Given the description of an element on the screen output the (x, y) to click on. 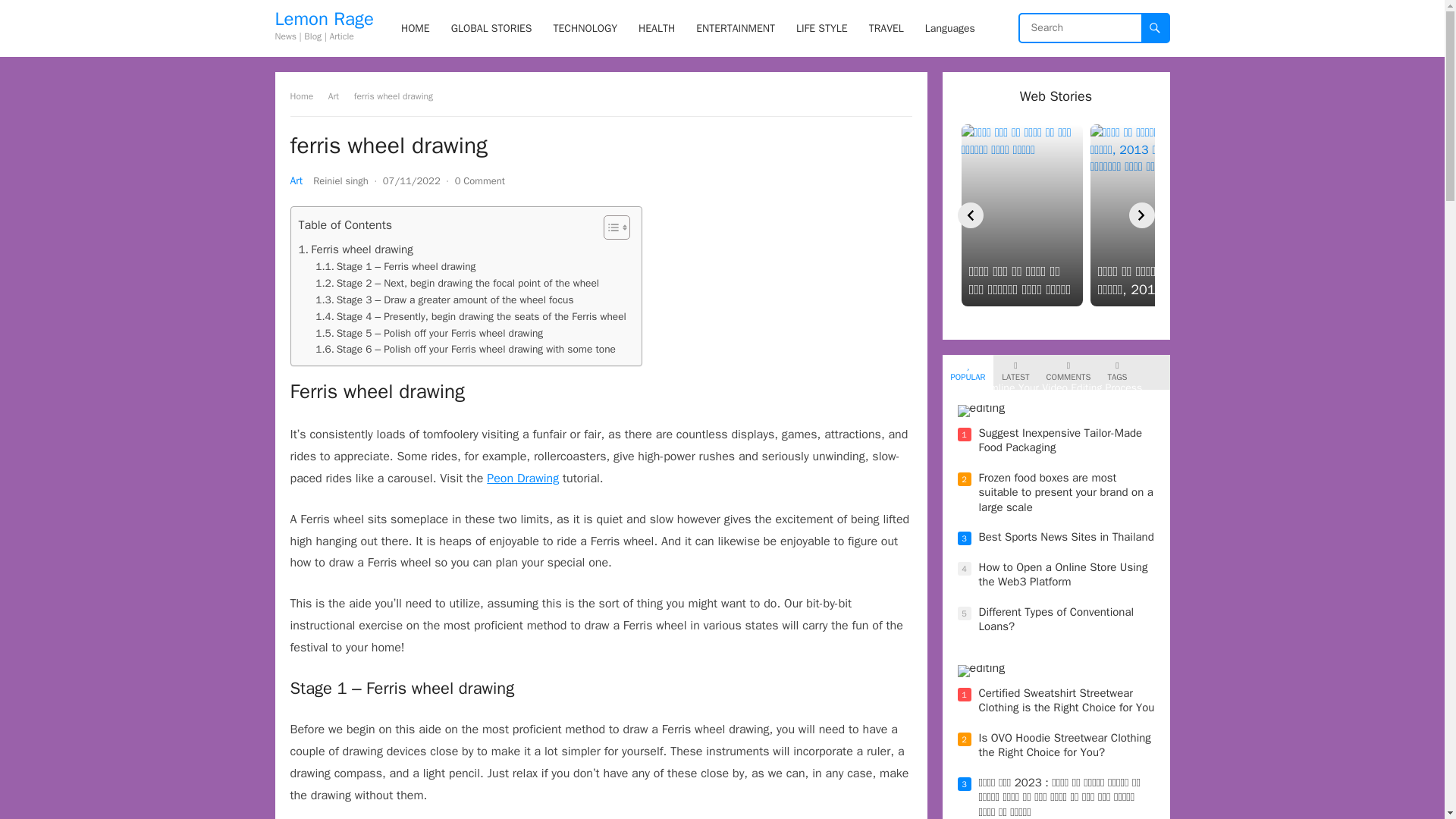
GLOBAL STORIES (491, 28)
Lemon Rage (323, 18)
HEALTH (656, 28)
Ferris wheel drawing (355, 249)
Posts by Reiniel singh (340, 180)
TECHNOLOGY (585, 28)
ENTERTAINMENT (735, 28)
LIFE STYLE (822, 28)
